Given the description of an element on the screen output the (x, y) to click on. 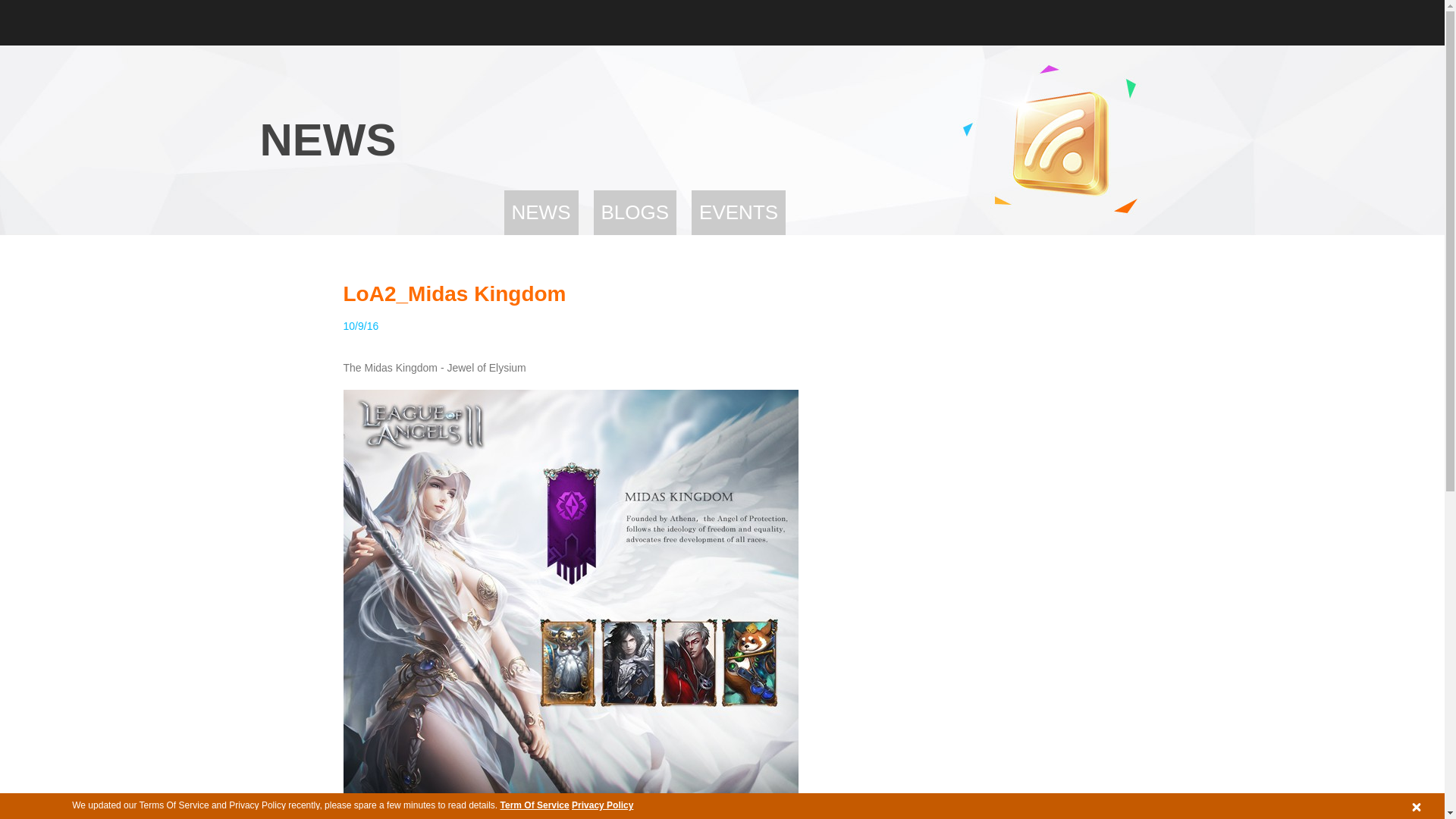
Privacy Policy (602, 804)
EVENTS (738, 212)
NEWS (540, 212)
Term Of Service (534, 804)
BLOGS (634, 212)
